Given the description of an element on the screen output the (x, y) to click on. 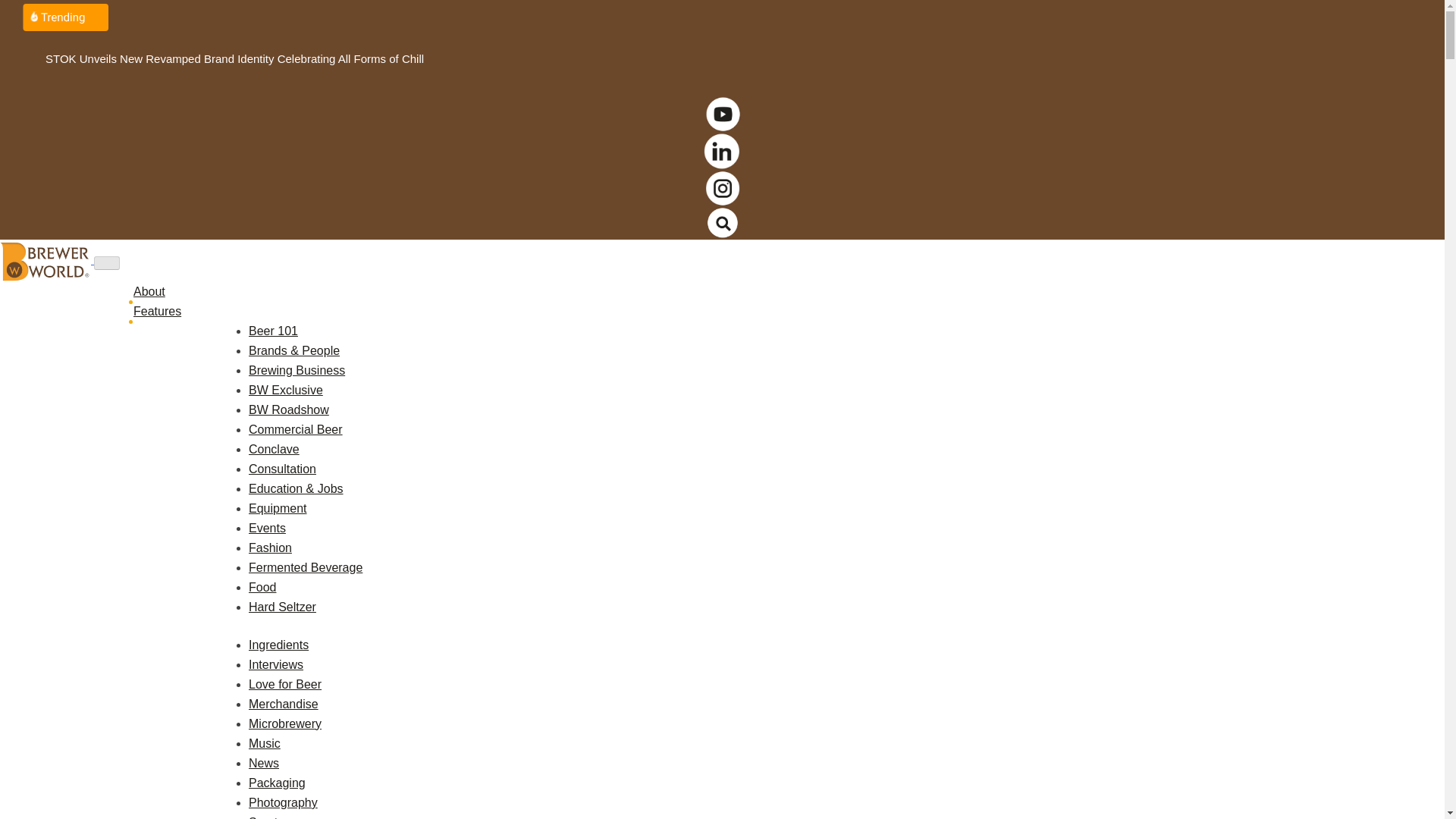
Brewing Business (296, 369)
Features (163, 310)
Hard Seltzer (281, 606)
About (155, 291)
Events (266, 527)
Commercial Beer (295, 429)
Sports (265, 817)
Fermented Beverage (305, 567)
Love for Beer (284, 684)
Conclave (273, 449)
